Given the description of an element on the screen output the (x, y) to click on. 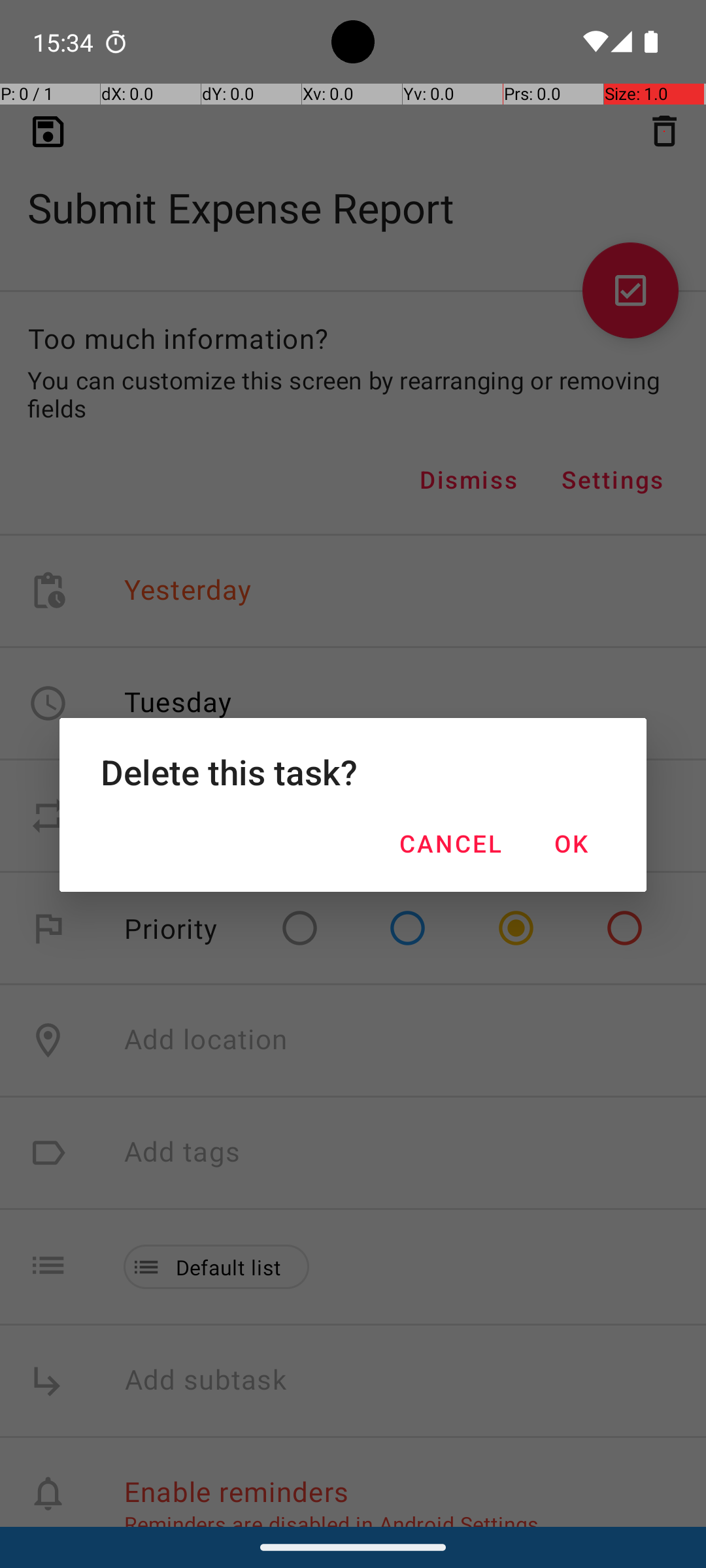
Delete this task? Element type: android.widget.TextView (352, 771)
